Given the description of an element on the screen output the (x, y) to click on. 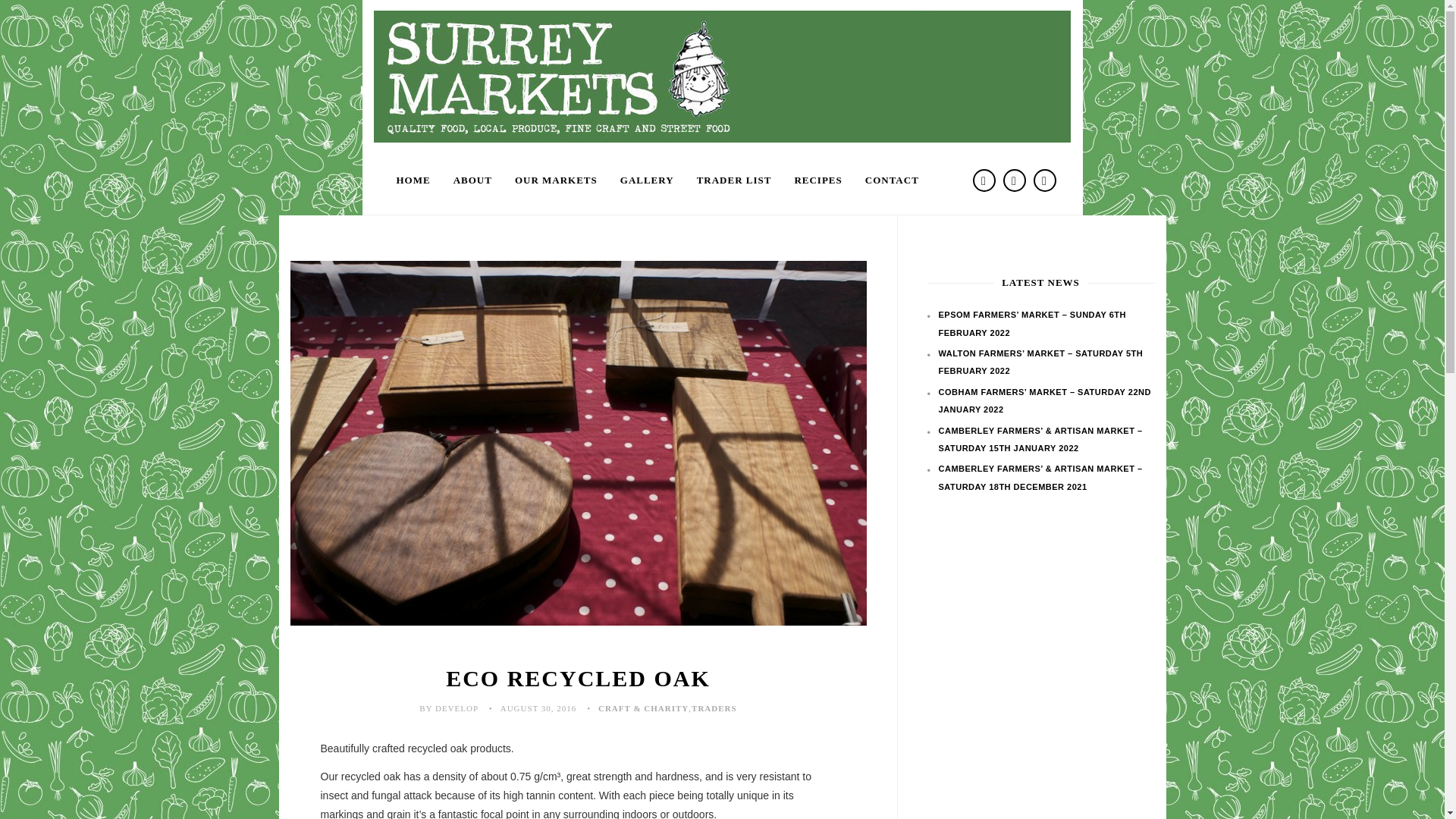
TRADER LIST (734, 179)
HOME (413, 179)
GALLERY (646, 179)
OUR MARKETS (555, 179)
ABOUT (472, 179)
RECIPES (818, 179)
CONTACT (891, 179)
TRADERS (713, 707)
